Given the description of an element on the screen output the (x, y) to click on. 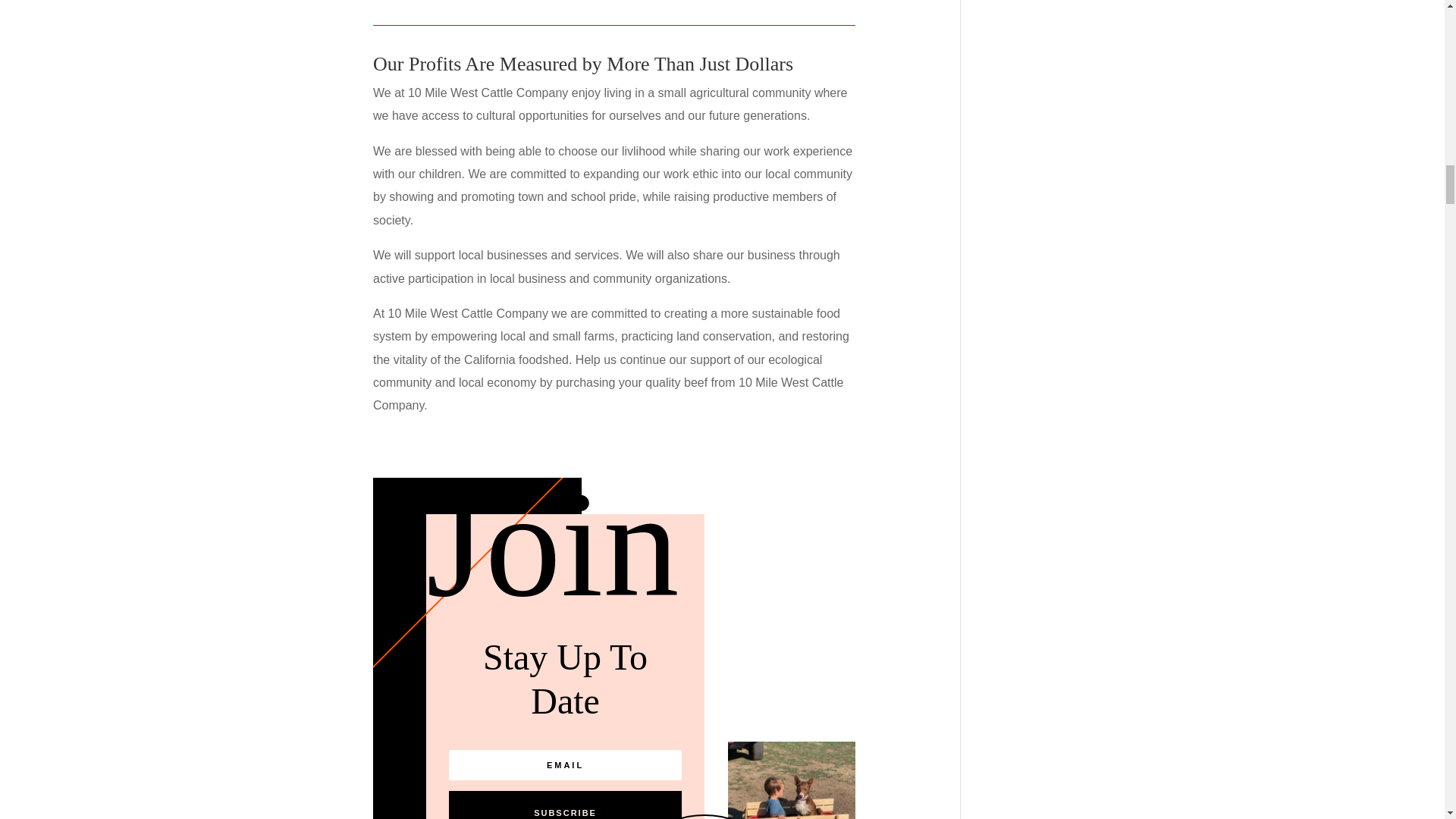
Wiley and his Pup (792, 780)
